Given the description of an element on the screen output the (x, y) to click on. 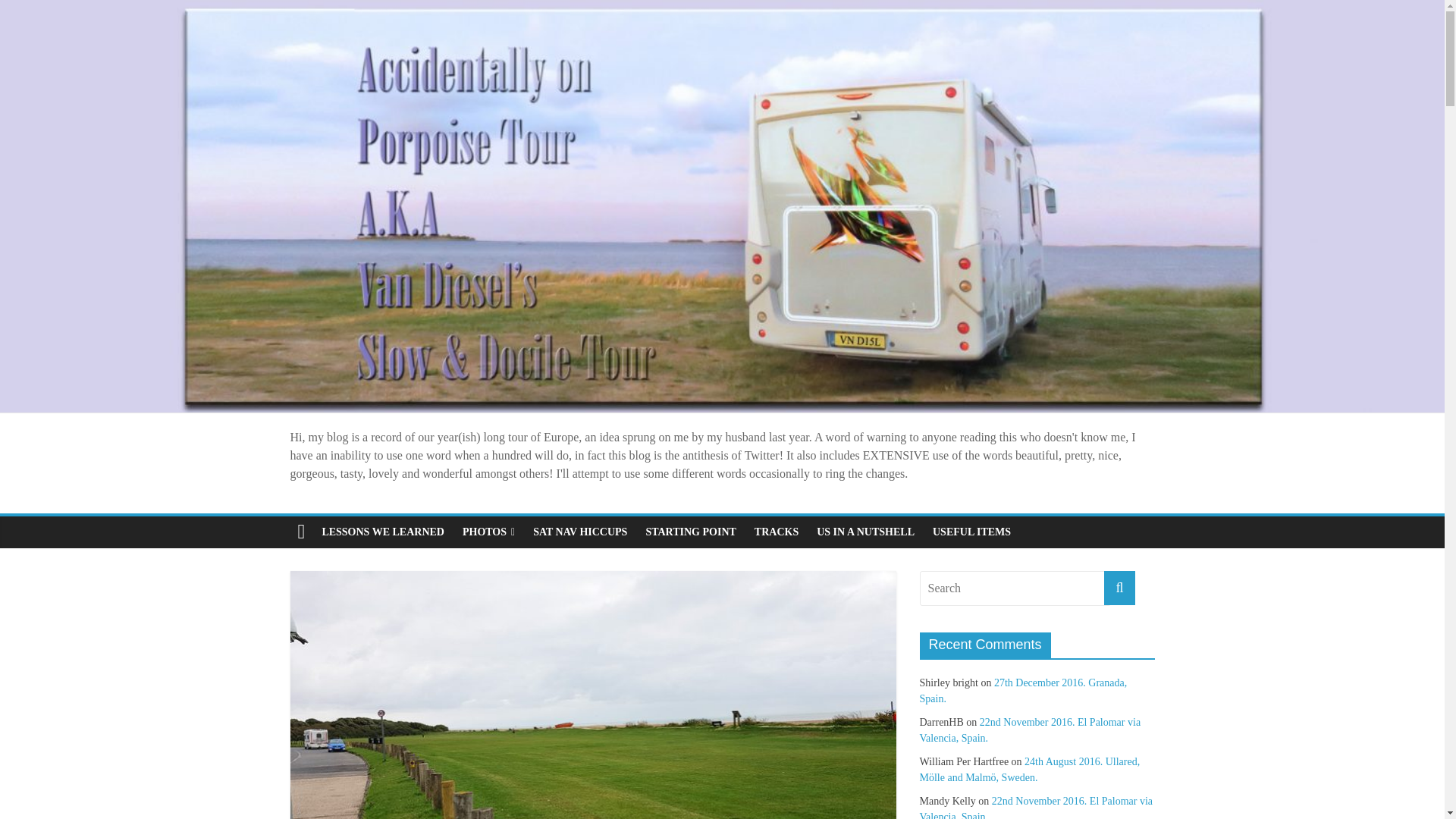
LESSONS WE LEARNED (382, 531)
PHOTOS (488, 531)
